Given the description of an element on the screen output the (x, y) to click on. 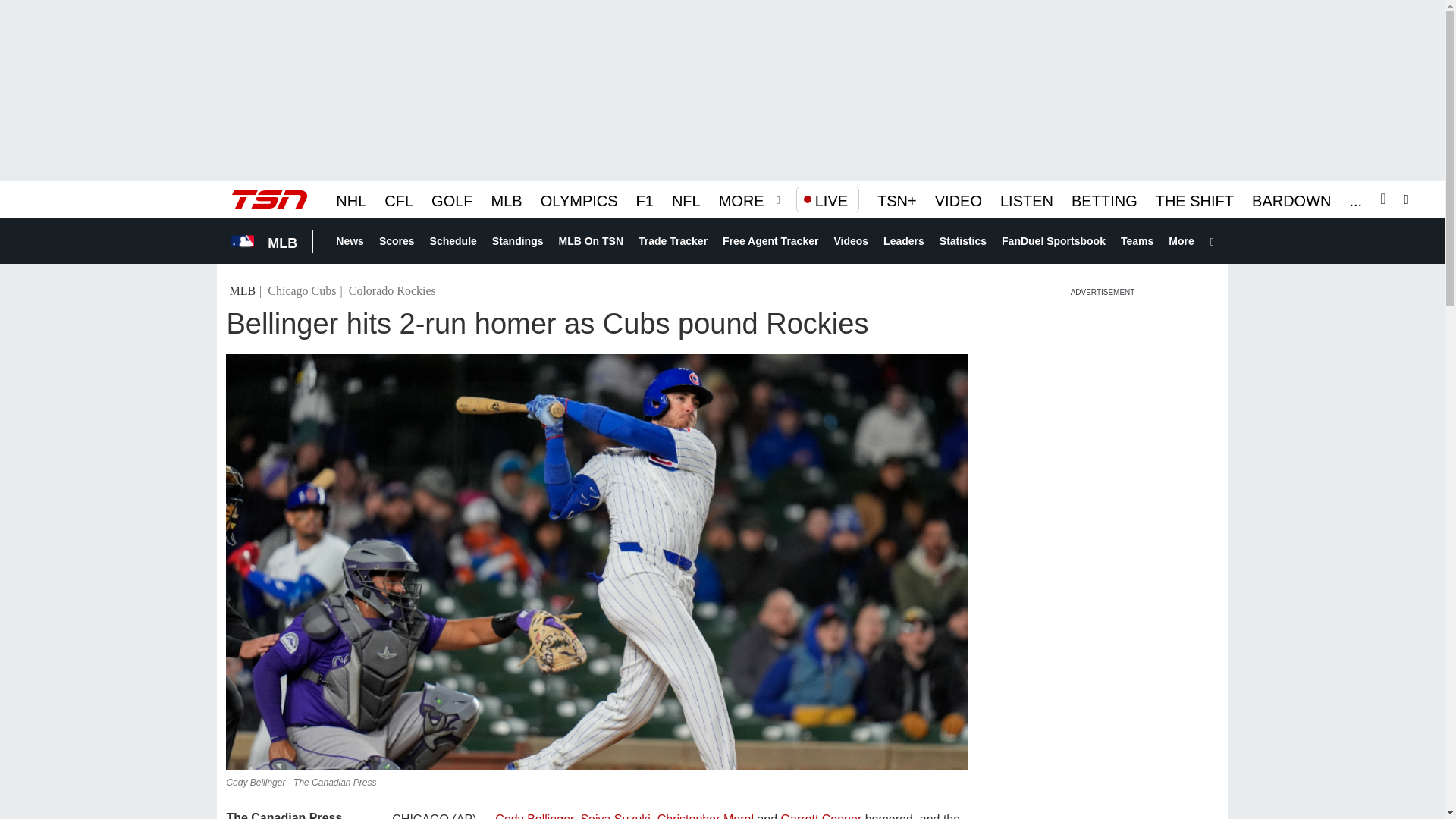
MLB (507, 199)
GOLF (450, 199)
NFL (685, 199)
CFL (398, 199)
MORE (741, 199)
Search (1410, 198)
F1 (644, 199)
ADVERTISEMENT (1102, 290)
TSN (269, 199)
OLYMPICS (578, 199)
NHL (351, 199)
